Given the description of an element on the screen output the (x, y) to click on. 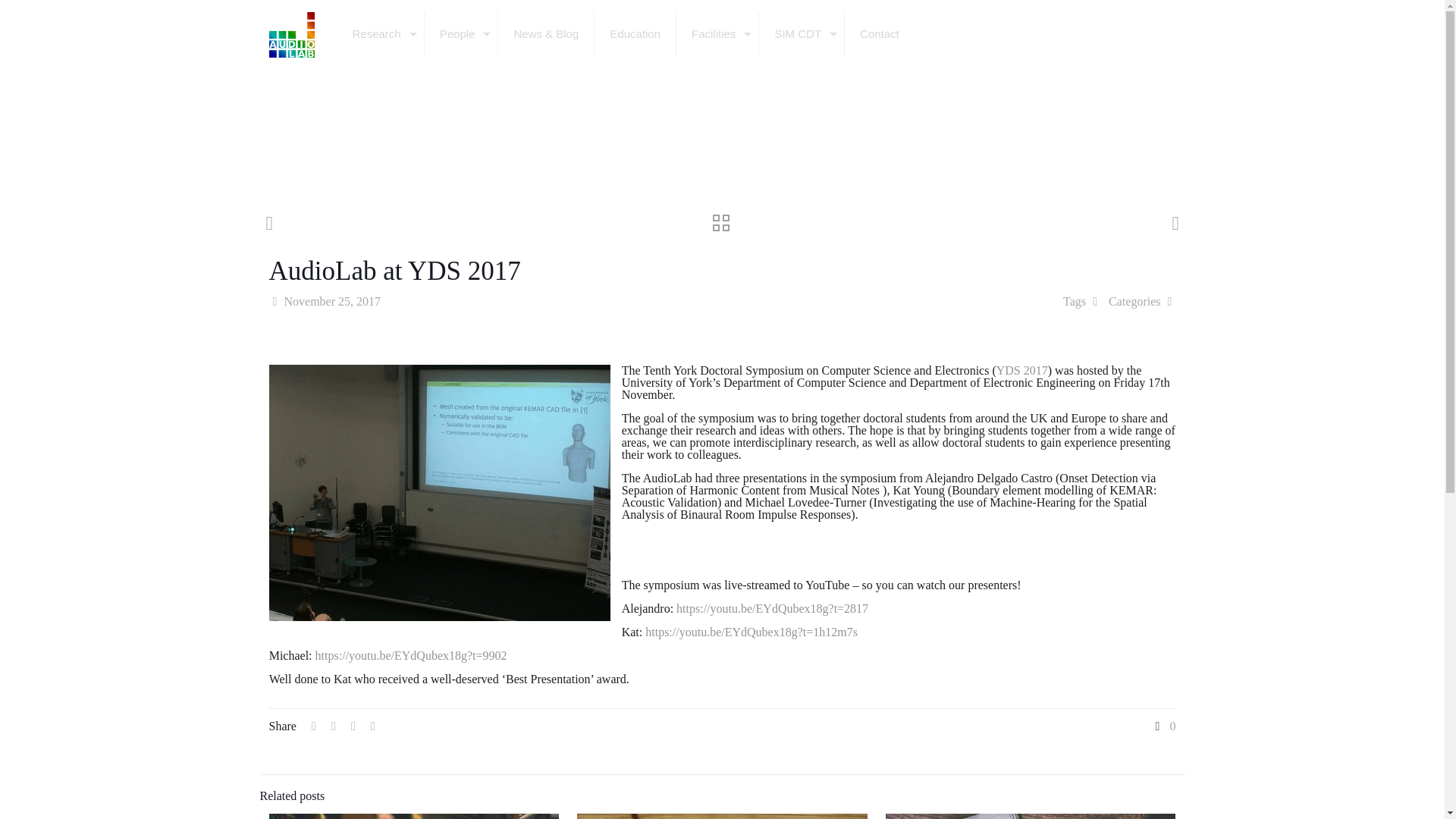
Education (635, 33)
YDS 2017 (1021, 369)
Facilities (717, 33)
People (462, 33)
Research (379, 33)
Contact (879, 33)
SIM CDT (801, 33)
